Given the description of an element on the screen output the (x, y) to click on. 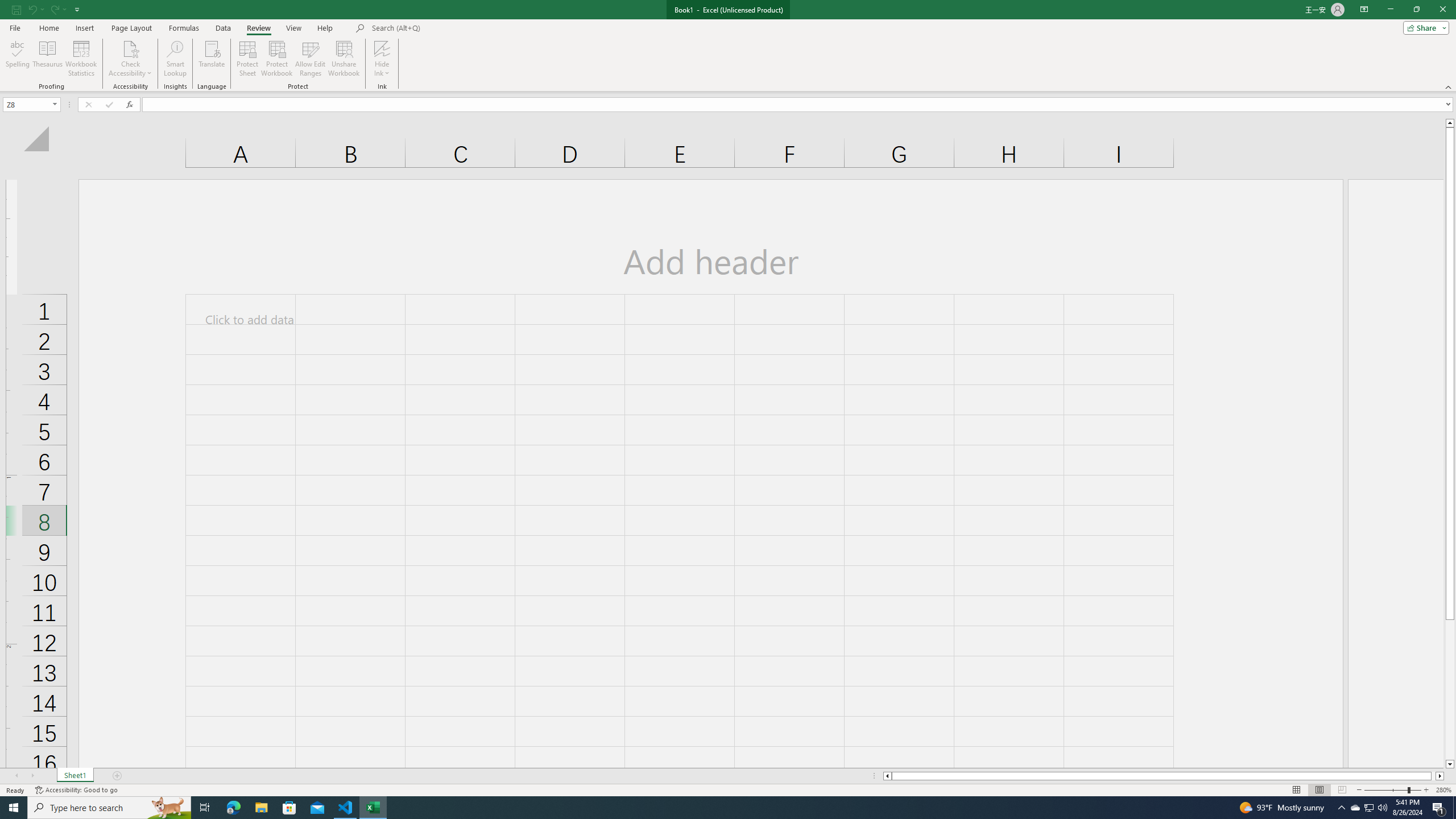
Protect Sheet... (247, 58)
Protect Workbook... (277, 58)
Formula Bar (798, 104)
Allow Edit Ranges (310, 58)
